Given the description of an element on the screen output the (x, y) to click on. 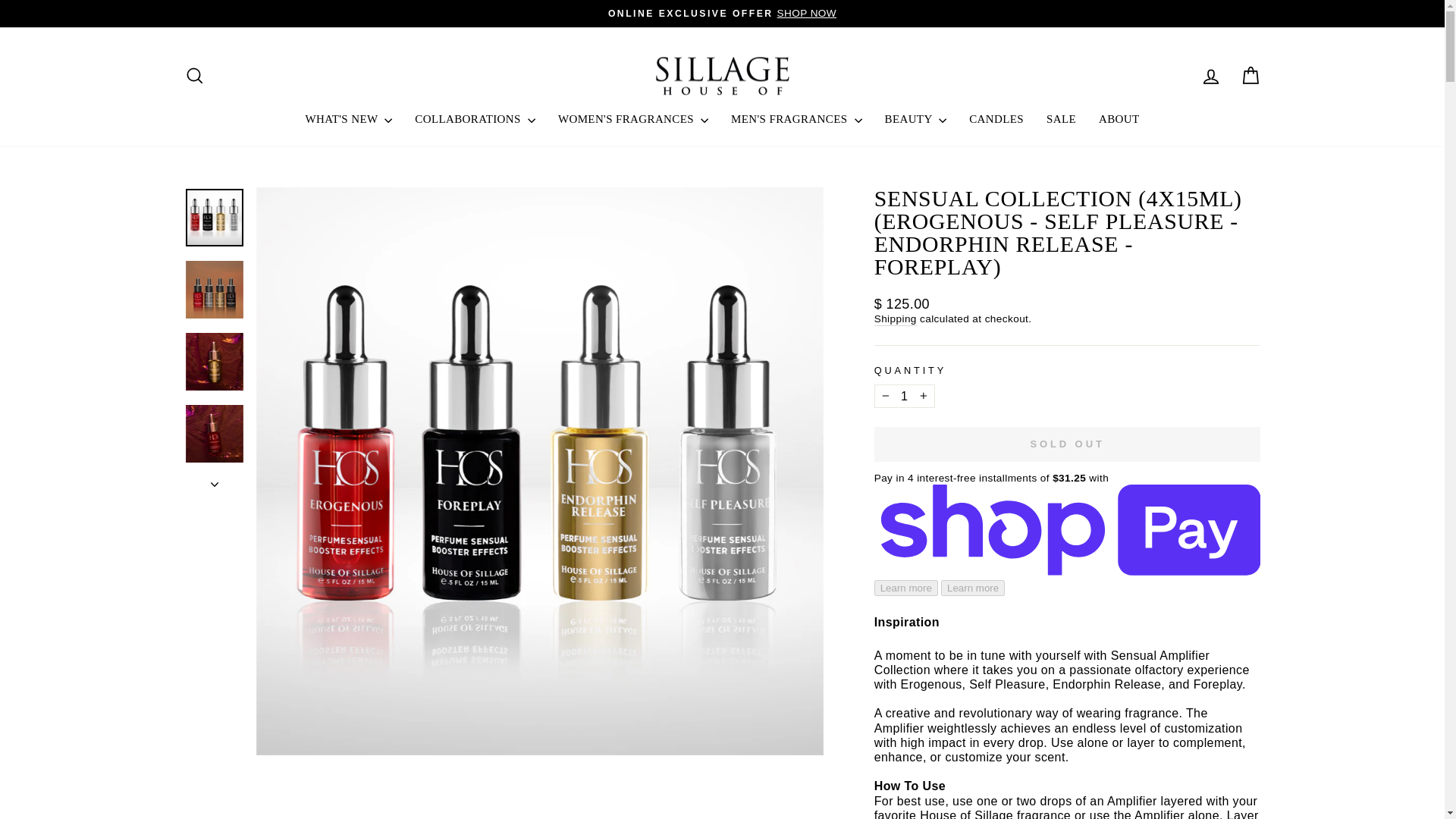
ONLINE EXCLUSIVE OFFERSHOP NOW (722, 13)
ICON-SEARCH (194, 75)
1 (904, 395)
ACCOUNT (1210, 76)
